Given the description of an element on the screen output the (x, y) to click on. 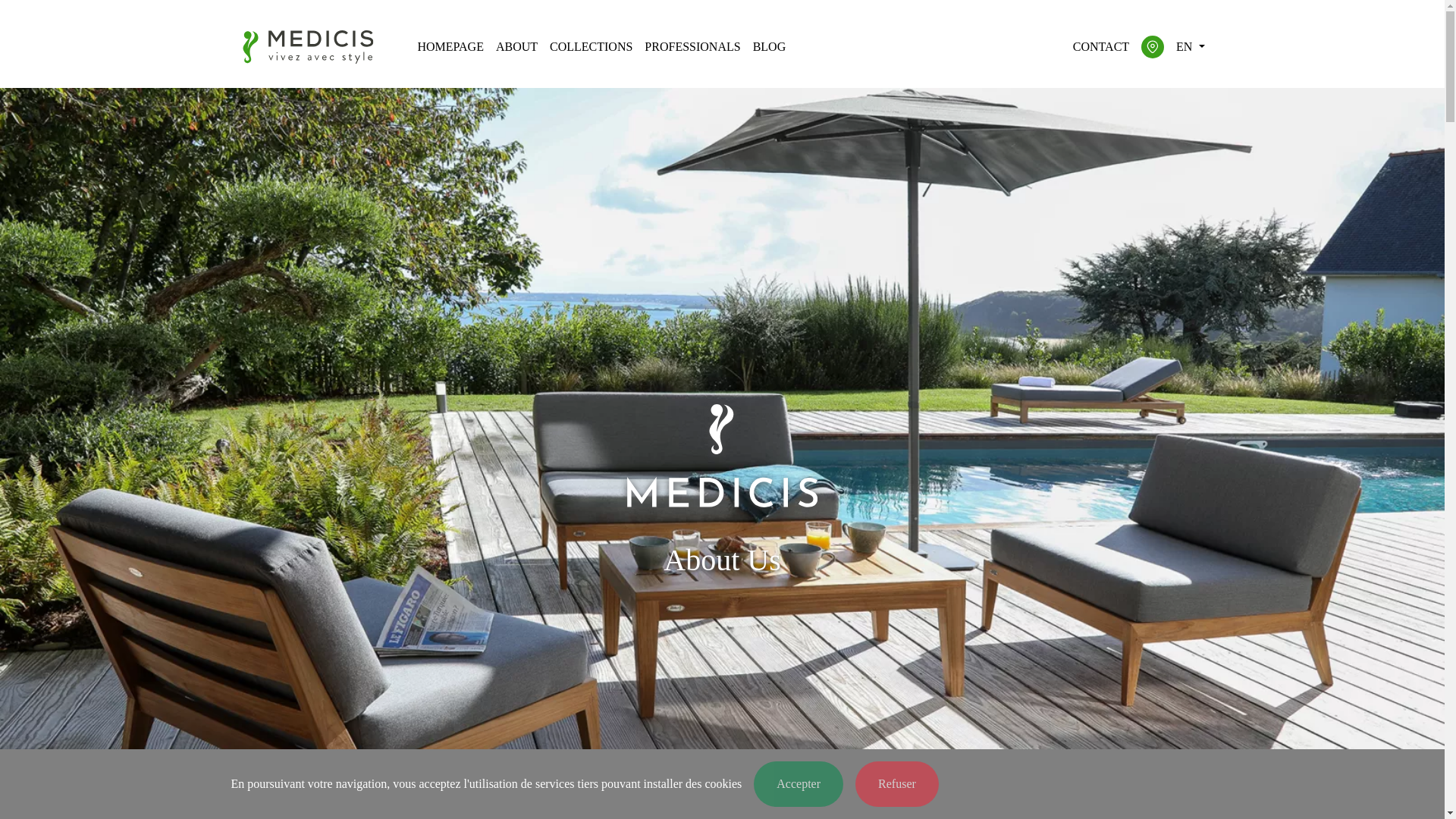
COLLECTIONS (591, 46)
PROFESSIONALS (692, 46)
BLOG (769, 46)
ABOUT (516, 46)
HOMEPAGE (449, 46)
EN (1190, 46)
Collections (591, 46)
Switch language (1190, 46)
Homepage (307, 46)
Professionals (692, 46)
About (516, 46)
Homepage (449, 46)
CONTACT (1101, 46)
Locate a shop (1152, 47)
Blog (769, 46)
